Given the description of an element on the screen output the (x, y) to click on. 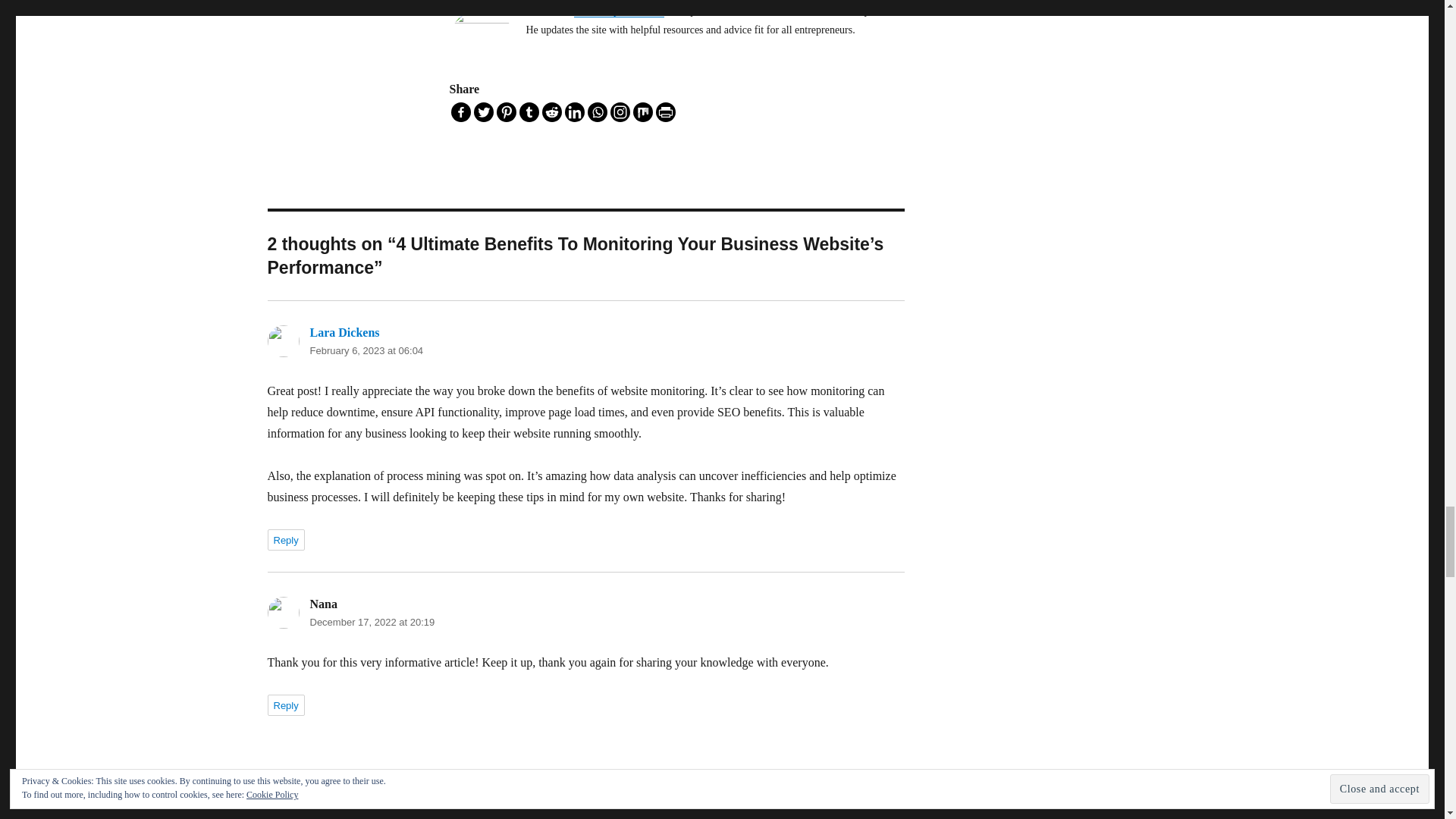
Linkedin (573, 112)
Twitter (483, 112)
Tumblr (528, 112)
Reddit (550, 112)
Facebook (459, 112)
Pinterest (505, 112)
